Given the description of an element on the screen output the (x, y) to click on. 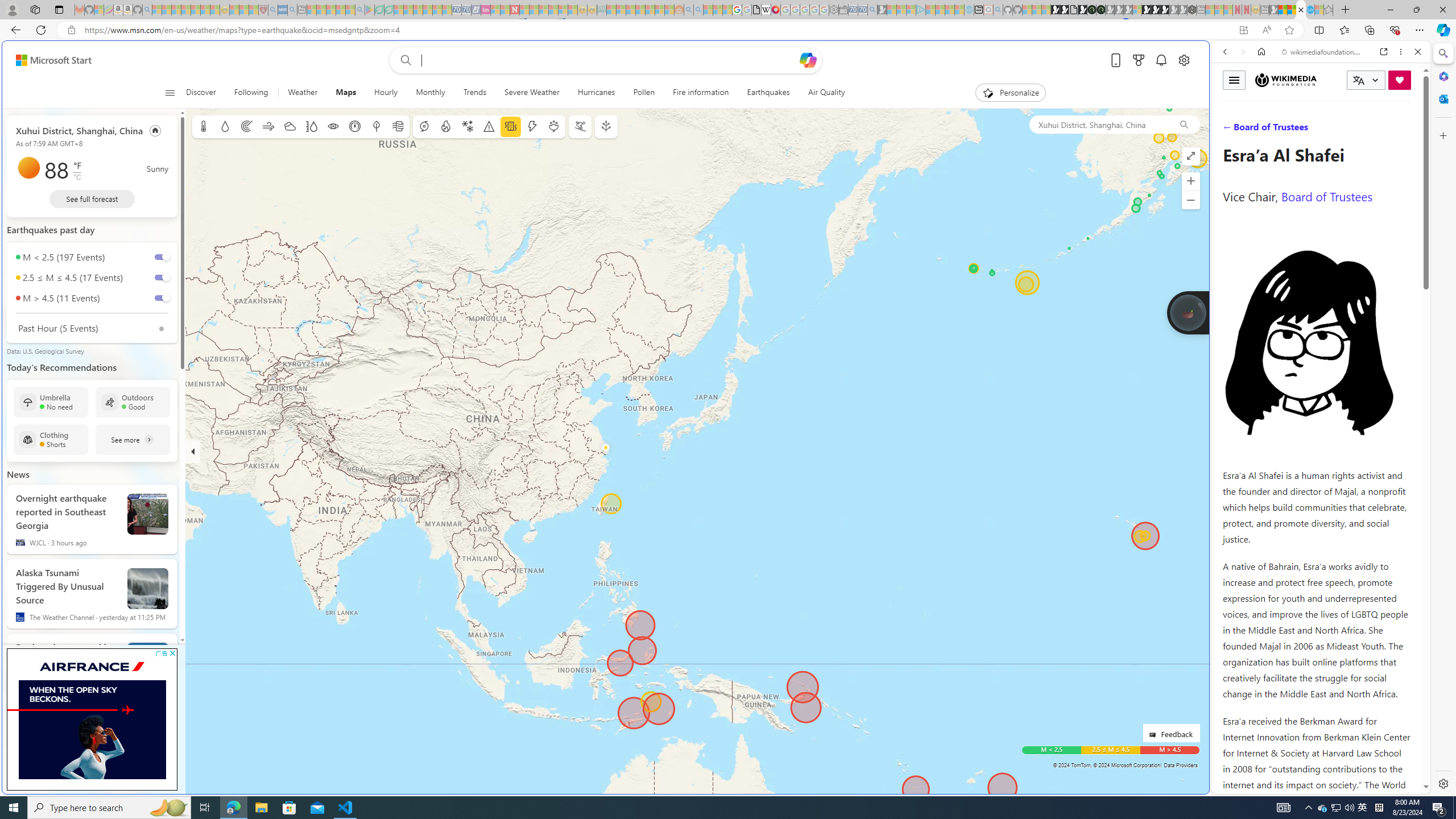
Weather (302, 92)
Open settings (1183, 60)
E-tree (605, 126)
Notifications (1161, 60)
utah sues federal government - Search - Sleeping (291, 9)
Overnight earthquake reported in Southeast Georgia (67, 509)
Services - Maintenance | Sky Blue Bikes - Sky Blue Bikes (1309, 9)
Microsoft Start Gaming - Sleeping (881, 9)
Air quality (397, 126)
Frequently visited (965, 151)
News (18, 473)
